Given the description of an element on the screen output the (x, y) to click on. 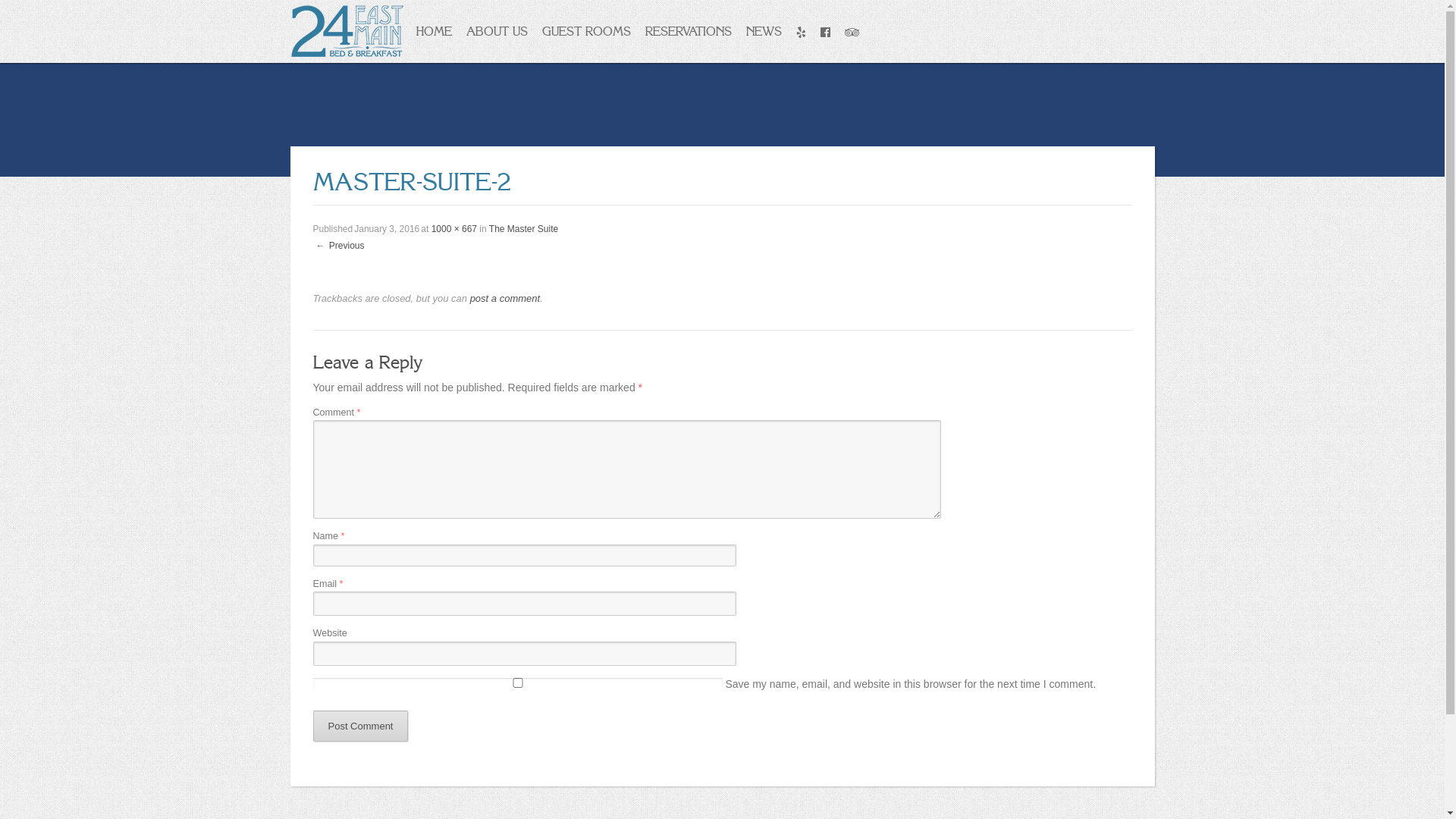
24 East Main Element type: hover (346, 29)
ABOUT US Element type: text (495, 31)
Post Comment Element type: text (359, 725)
NEWS Element type: text (763, 31)
The Master Suite Element type: text (523, 228)
HOME Element type: text (432, 31)
RESERVATIONS Element type: text (687, 31)
post a comment Element type: text (505, 298)
GUEST ROOMS Element type: text (585, 31)
